Given the description of an element on the screen output the (x, y) to click on. 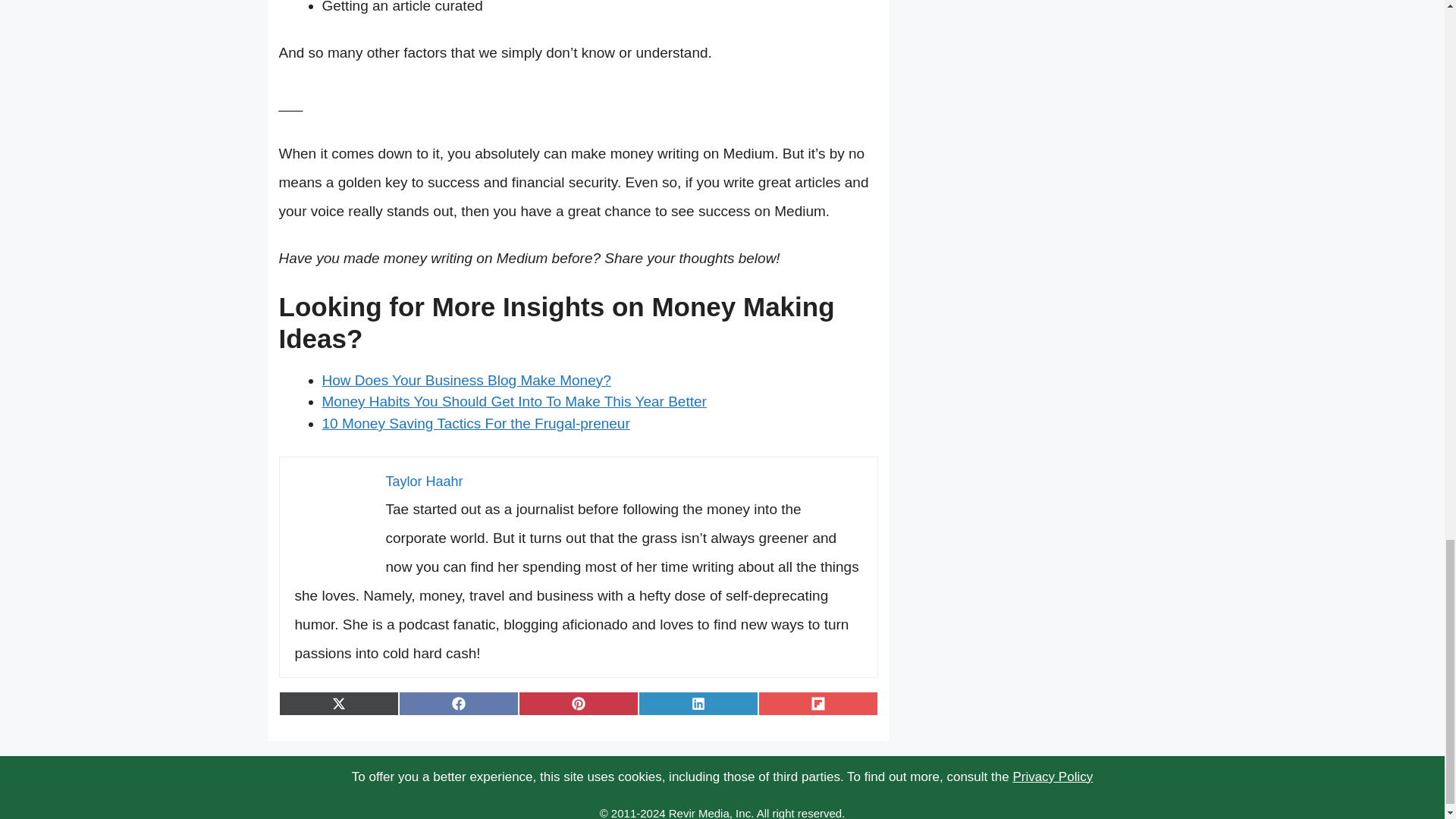
How Does Your Business Blog Make Money? (465, 380)
Share on LinkedIn (698, 703)
Share on Flip it (817, 703)
10 Money Saving Tactics For the Frugal-preneur (474, 423)
Taylor Haahr (424, 481)
Share on Facebook (458, 703)
Money Habits You Should Get Into To Make This Year Better (513, 401)
Share on Pinterest (578, 703)
